Given the description of an element on the screen output the (x, y) to click on. 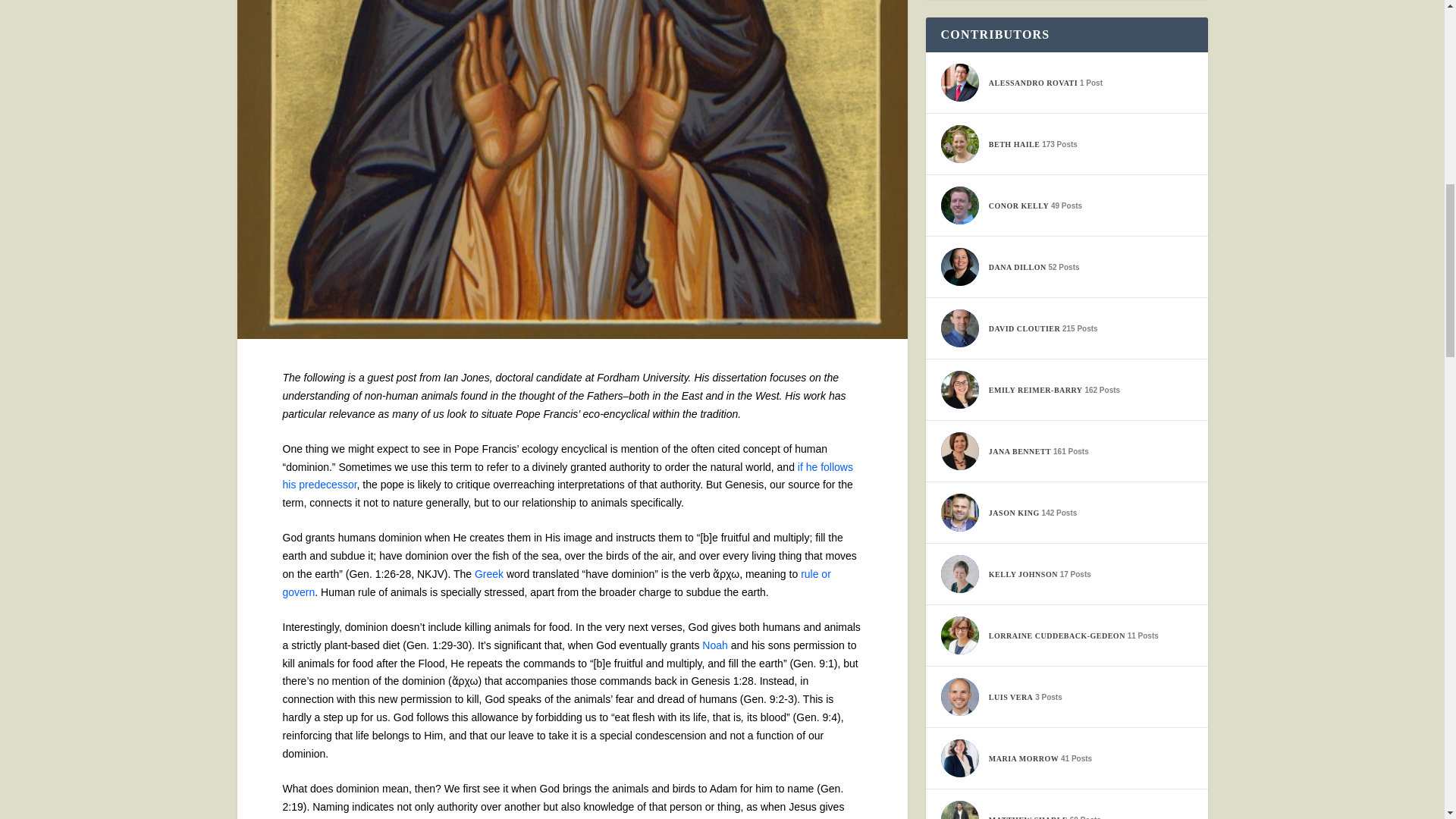
Greek (488, 573)
rule or govern (555, 583)
if he follows his predecessor (566, 476)
Noah (713, 645)
